Given the description of an element on the screen output the (x, y) to click on. 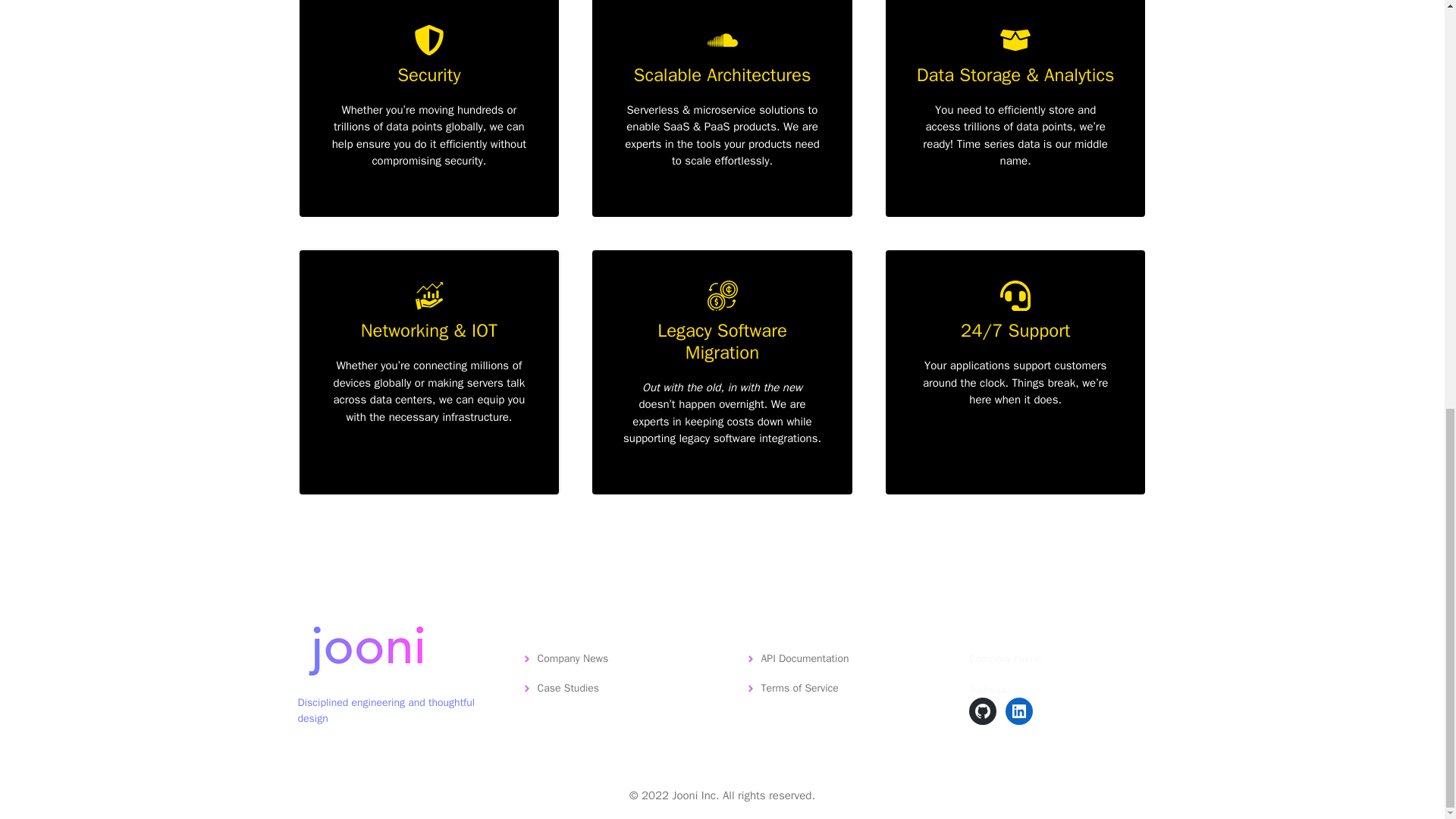
GitHub (982, 710)
Terms of Service (799, 687)
Company News (572, 658)
API Documentation (804, 658)
LinkedIn (1019, 710)
Case Studies (567, 687)
